Given the description of an element on the screen output the (x, y) to click on. 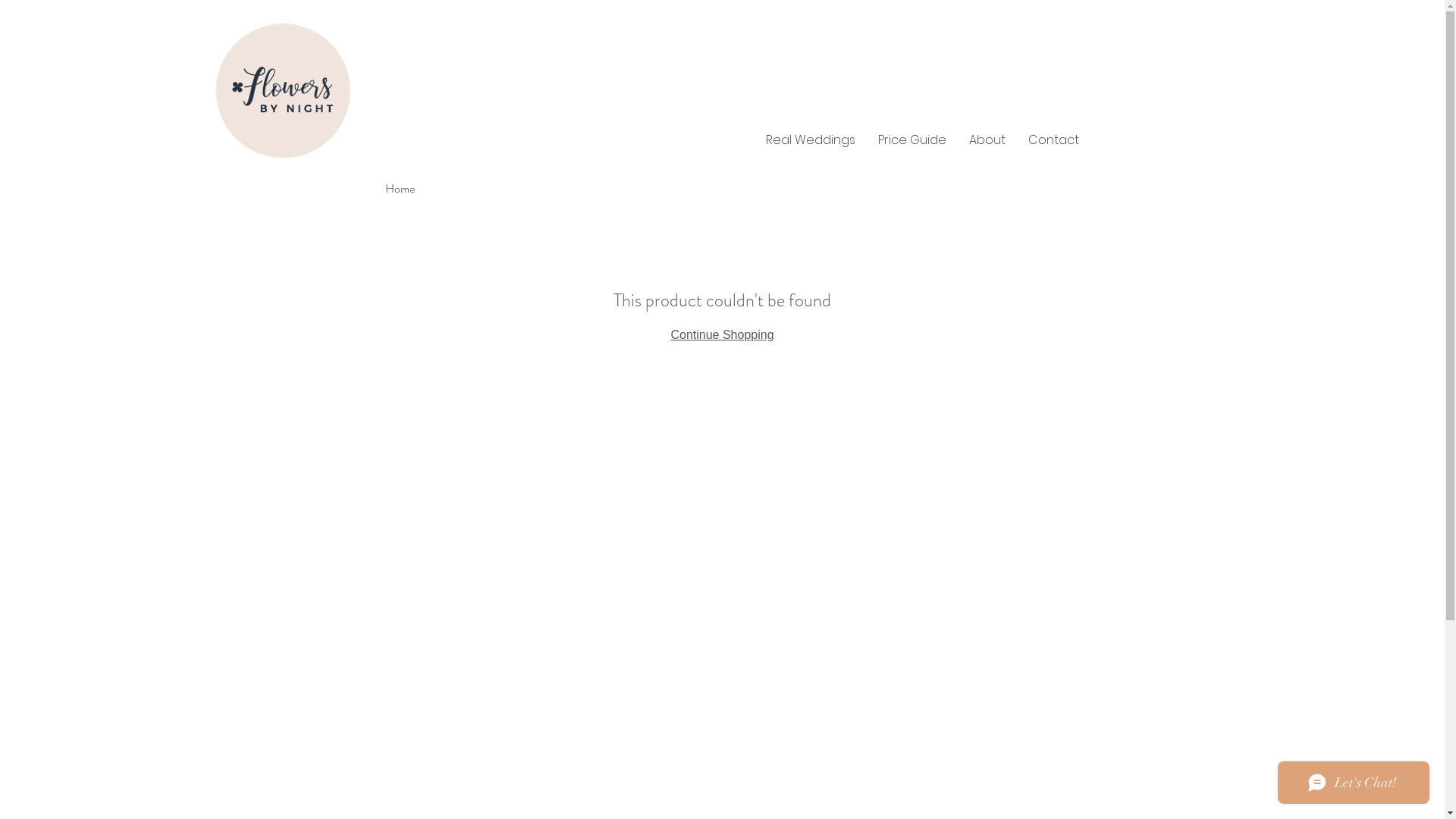
About Element type: text (986, 139)
Continue Shopping Element type: text (721, 334)
Home Element type: text (399, 188)
Contact Element type: text (1052, 139)
Price Guide Element type: text (911, 139)
Real Weddings Element type: text (809, 139)
